Given the description of an element on the screen output the (x, y) to click on. 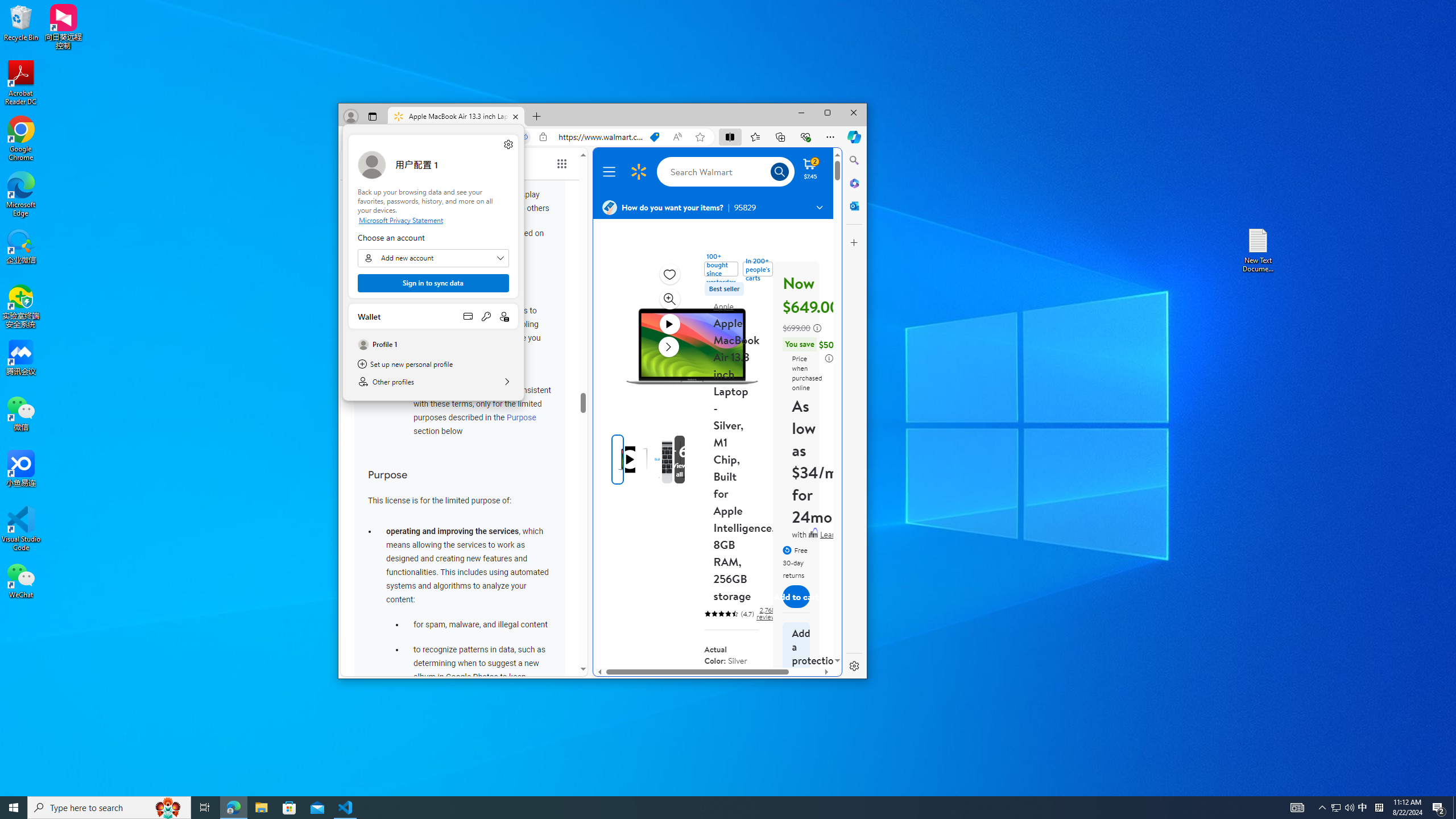
Close Search pane (854, 159)
Affirm (813, 532)
Choose an account (433, 257)
Start (13, 807)
Zoom image modal (669, 299)
Search icon (779, 171)
